Given the description of an element on the screen output the (x, y) to click on. 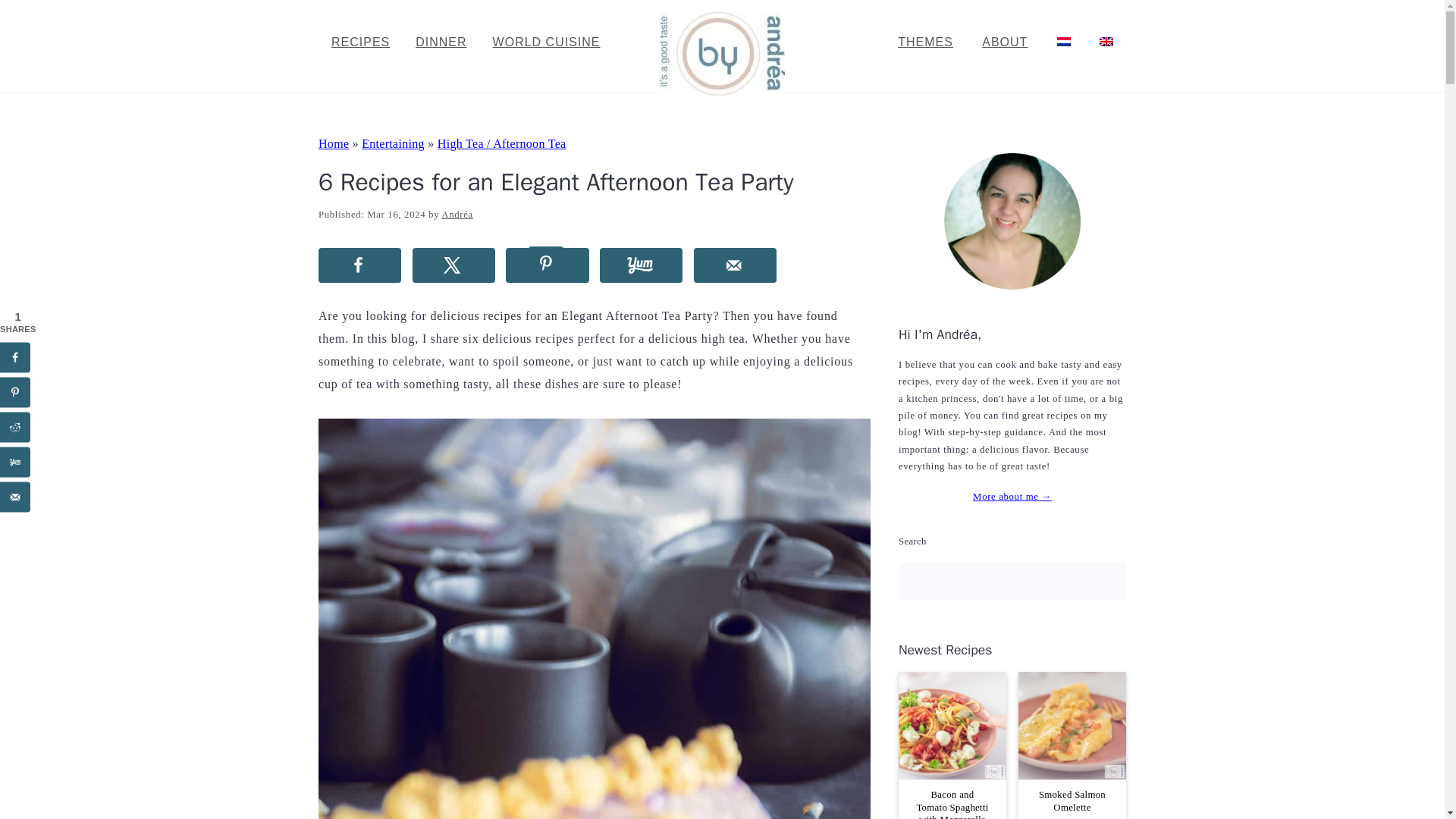
RECIPES (360, 42)
Share on Facebook (359, 265)
Save to Pinterest (15, 391)
Share on Reddit (15, 426)
Share on X (453, 265)
Send over email (735, 265)
By Andrea Janssen (721, 86)
By Andrea Janssen (721, 53)
Save to Pinterest (546, 265)
Share on Yummly (640, 265)
Share on Facebook (15, 357)
